Given the description of an element on the screen output the (x, y) to click on. 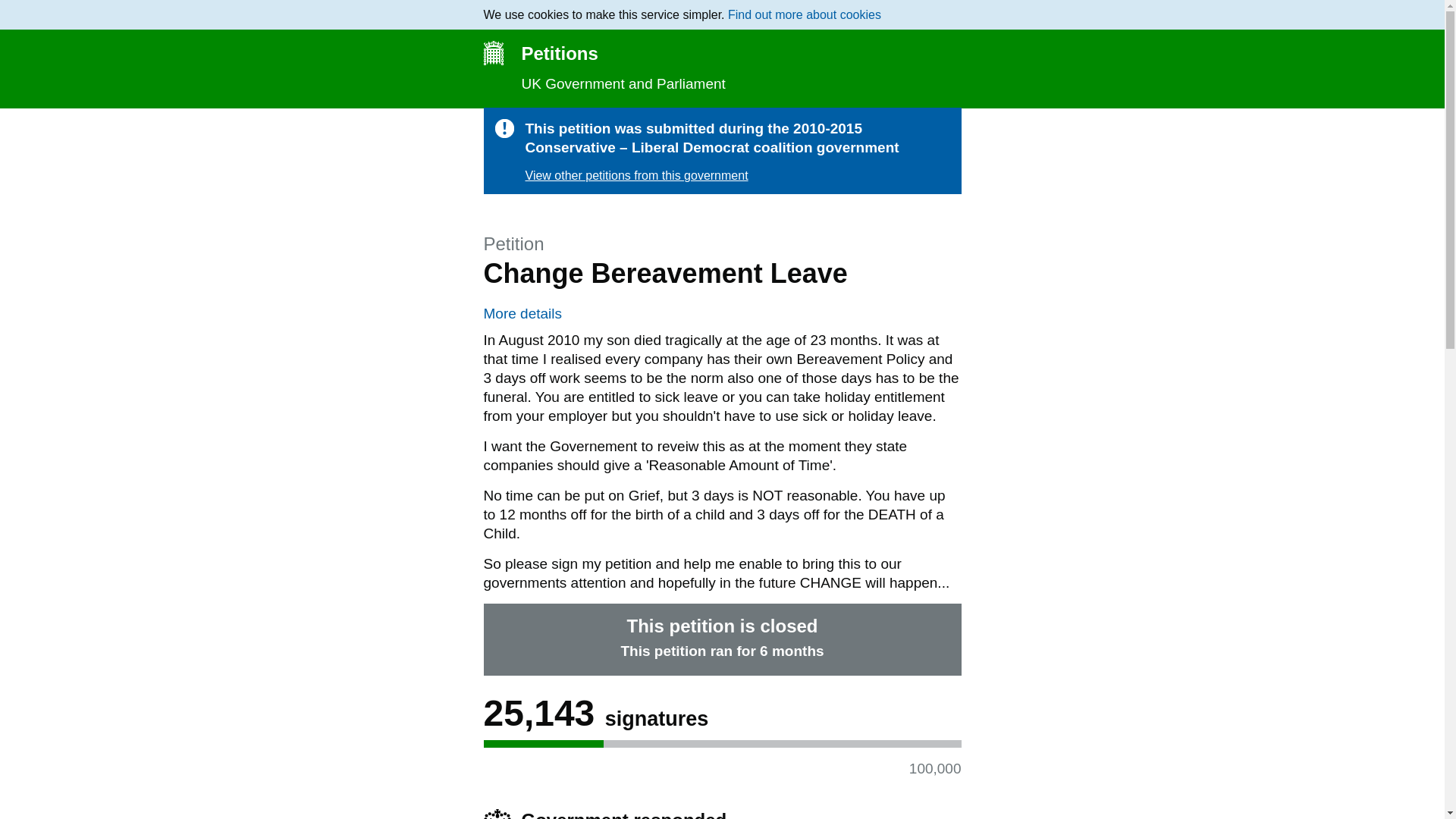
Go to the petitions homepage (721, 53)
Find out more about cookies (804, 14)
View other petitions from this government (636, 174)
Petitions (721, 53)
